Given the description of an element on the screen output the (x, y) to click on. 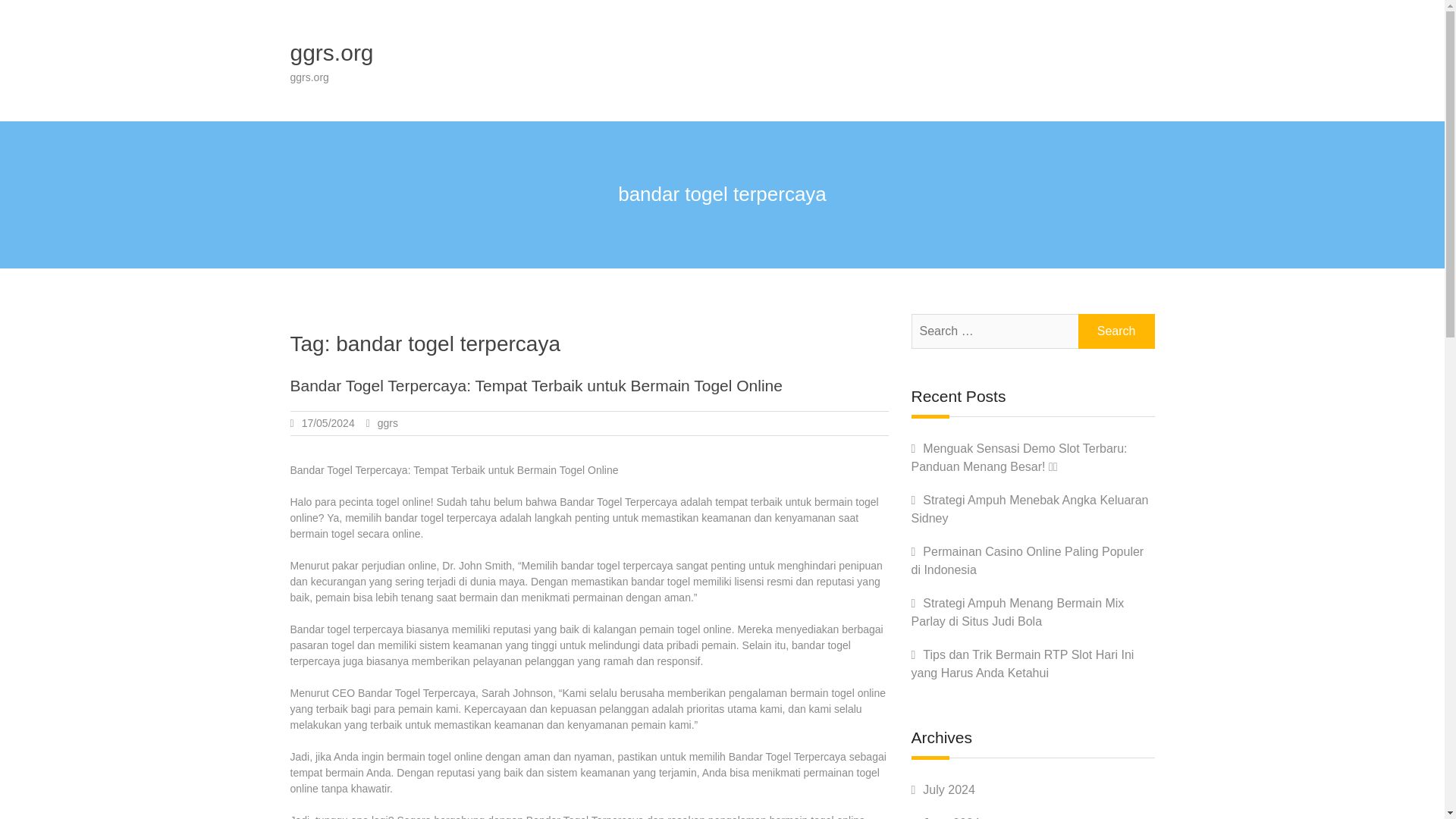
Search (1116, 330)
ggrs (387, 422)
June 2024 (951, 817)
Search (1116, 330)
Strategi Ampuh Menebak Angka Keluaran Sidney (1029, 508)
Strategi Ampuh Menang Bermain Mix Parlay di Situs Judi Bola (1017, 612)
ggrs.org (330, 52)
July 2024 (949, 789)
Search (1116, 330)
Permainan Casino Online Paling Populer di Indonesia (1027, 560)
